Given the description of an element on the screen output the (x, y) to click on. 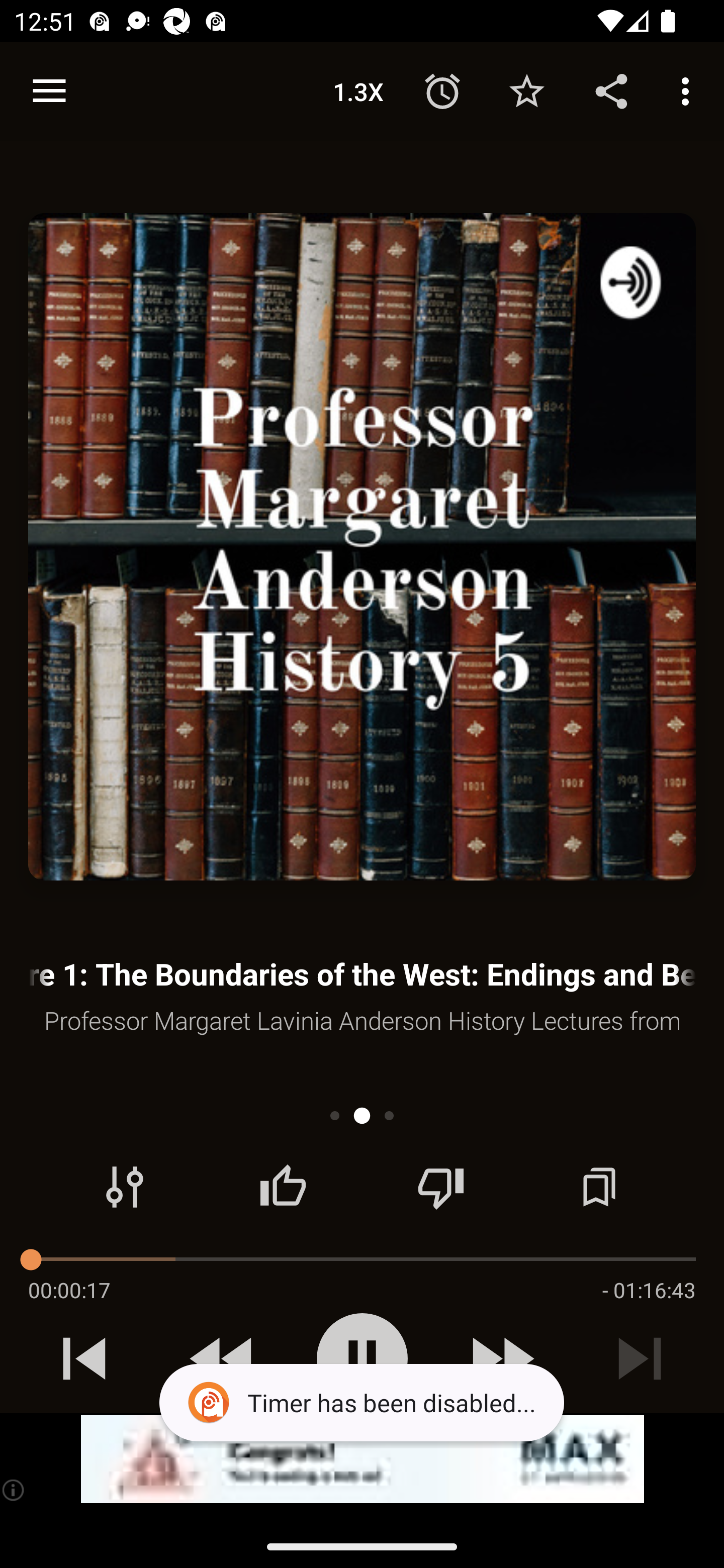
Open navigation sidebar (49, 91)
1.3X (357, 90)
Sleep Timer (442, 90)
Favorite (526, 90)
Share (611, 90)
More options (688, 90)
Episode description (361, 547)
Audio effects (124, 1186)
Thumbs up (283, 1186)
Thumbs down (440, 1186)
Chapters / Bookmarks (598, 1186)
- 01:16:43 (648, 1289)
Previous track (84, 1358)
Next track (639, 1358)
app-monetization (362, 1459)
(i) (14, 1489)
